Given the description of an element on the screen output the (x, y) to click on. 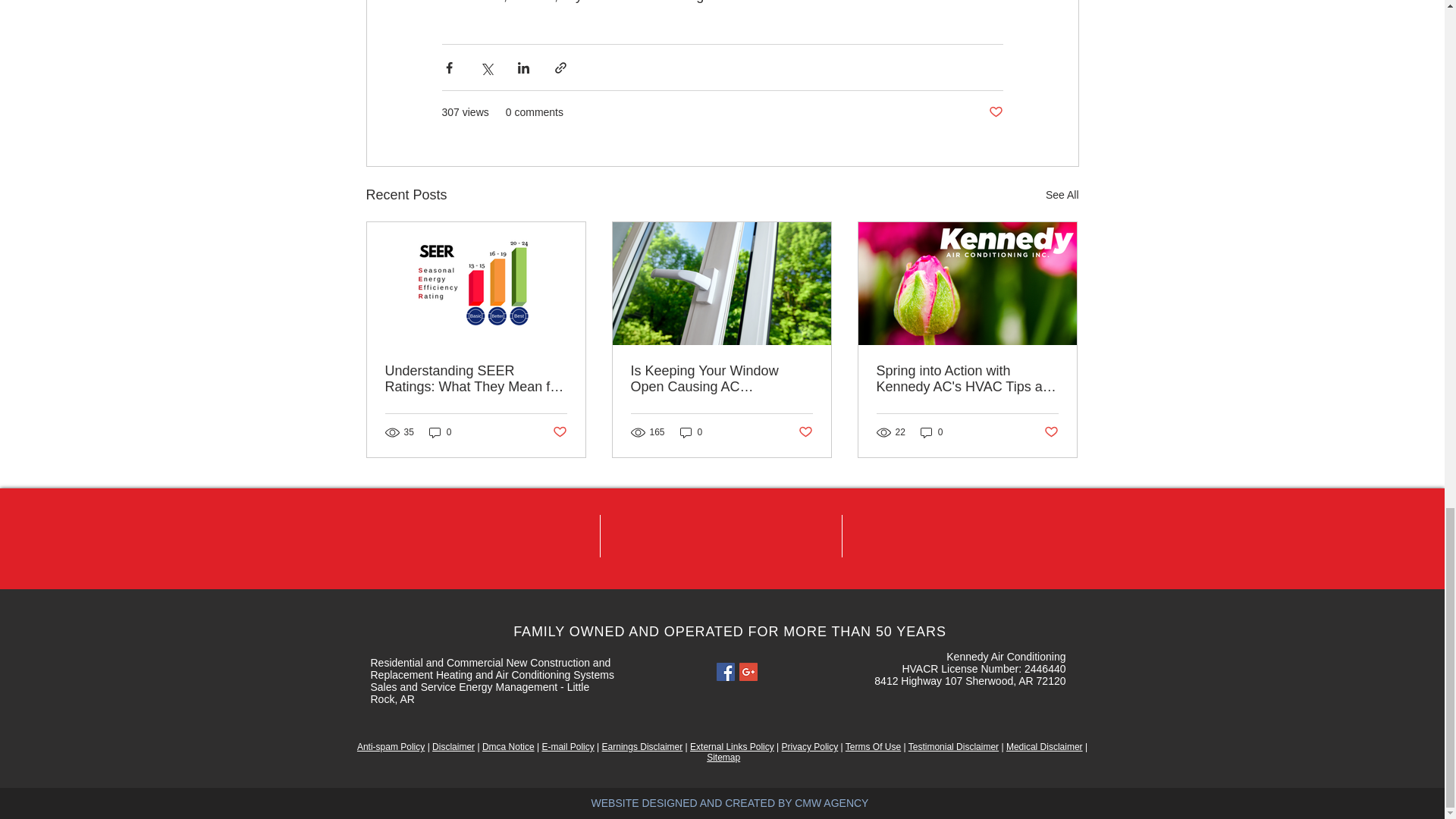
0 (440, 432)
Post not marked as liked (995, 112)
See All (1061, 195)
